Given the description of an element on the screen output the (x, y) to click on. 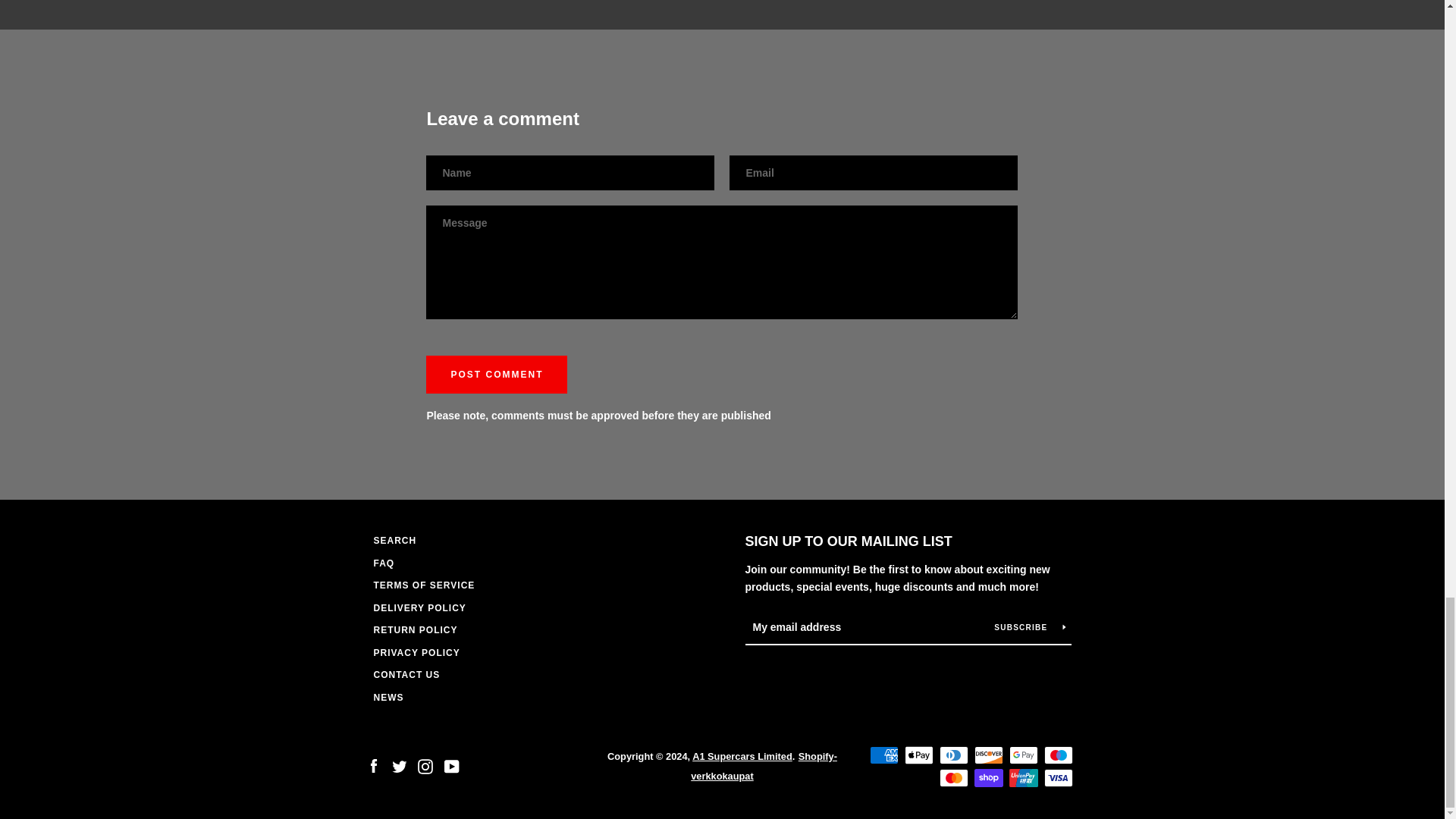
Post comment (496, 374)
